Given the description of an element on the screen output the (x, y) to click on. 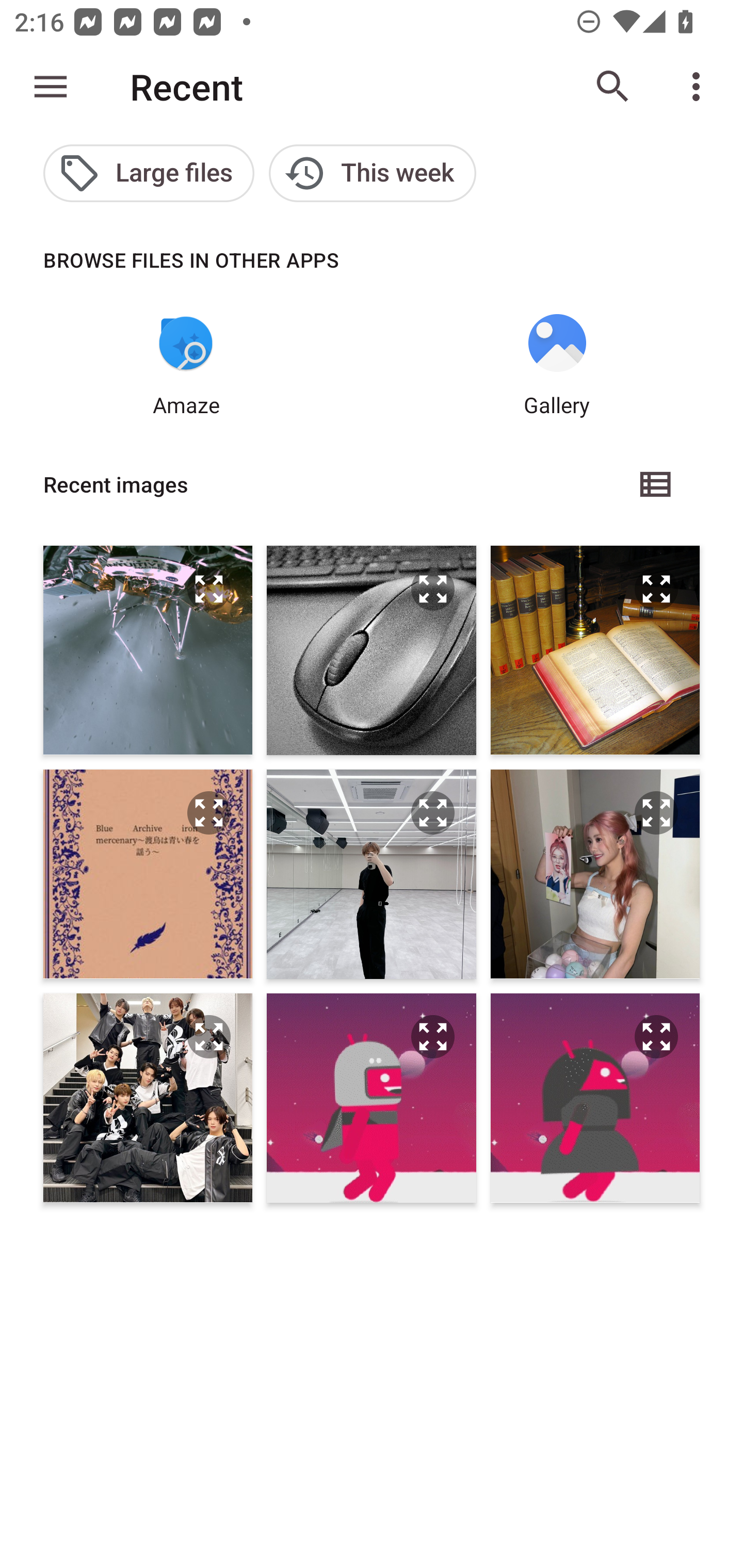
Show roots (50, 86)
Search (612, 86)
More options (699, 86)
Large files (148, 173)
This week (372, 173)
Amaze (185, 365)
Gallery (557, 365)
List view (655, 484)
Preview the file done.jpg (208, 588)
Preview the file Latin dictionary.jpg (655, 588)
Preview the file IMG_20240205_090359.jpg (432, 1037)
Preview the file IMG_20240205_085101.jpg (655, 1037)
